Given the description of an element on the screen output the (x, y) to click on. 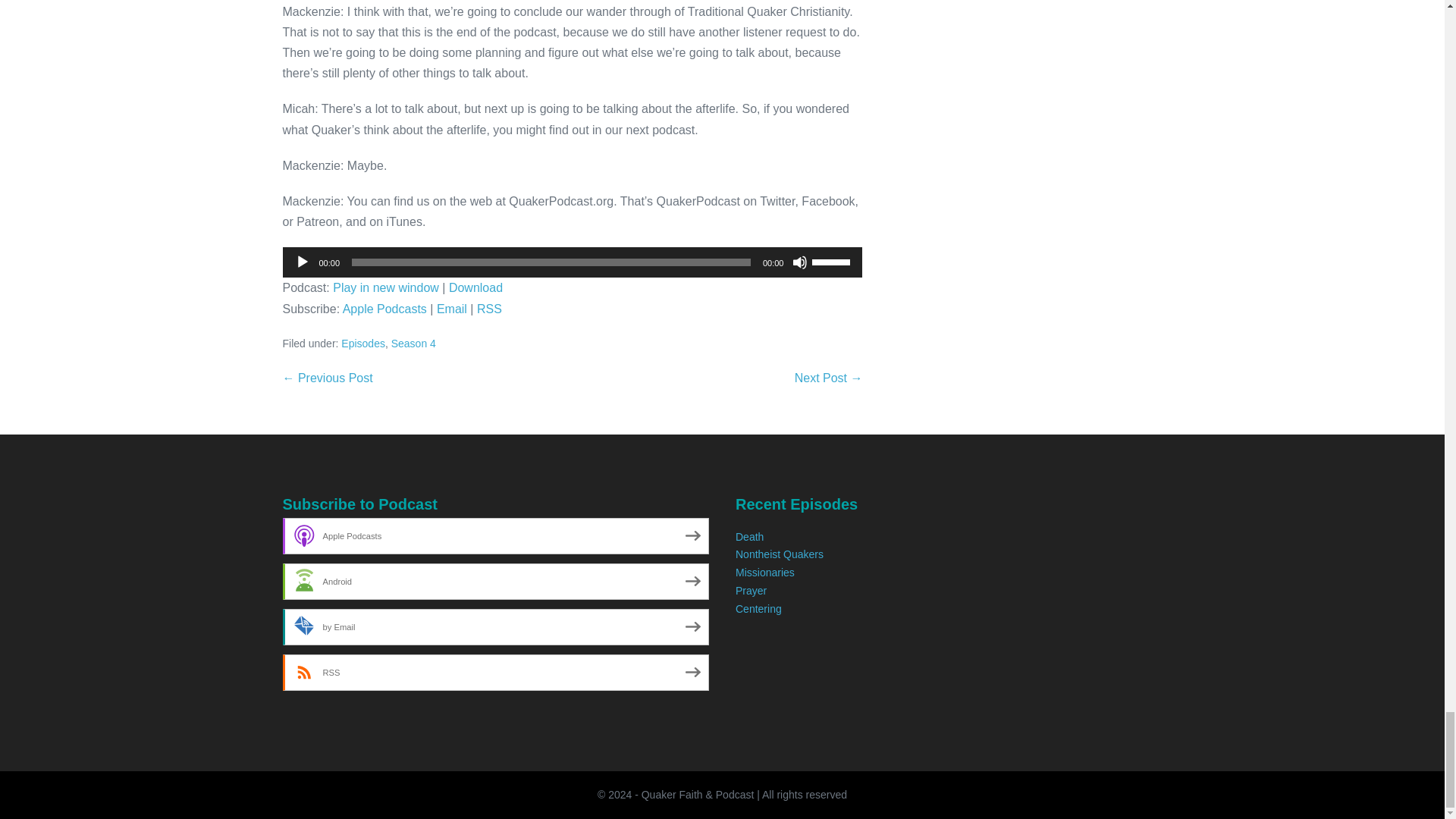
Email (451, 308)
Subscribe on Apple Podcasts (384, 308)
Apple Podcasts (384, 308)
RSS (489, 308)
Subscribe via RSS (489, 308)
Download (475, 287)
Subscribe on Apple Podcasts (495, 535)
Play in new window (386, 287)
Play (301, 262)
Subscribe by Email (495, 627)
Play in new window (386, 287)
Episodes (362, 343)
Mute (800, 262)
Subscribe on Android (495, 581)
Season 4 (413, 343)
